Given the description of an element on the screen output the (x, y) to click on. 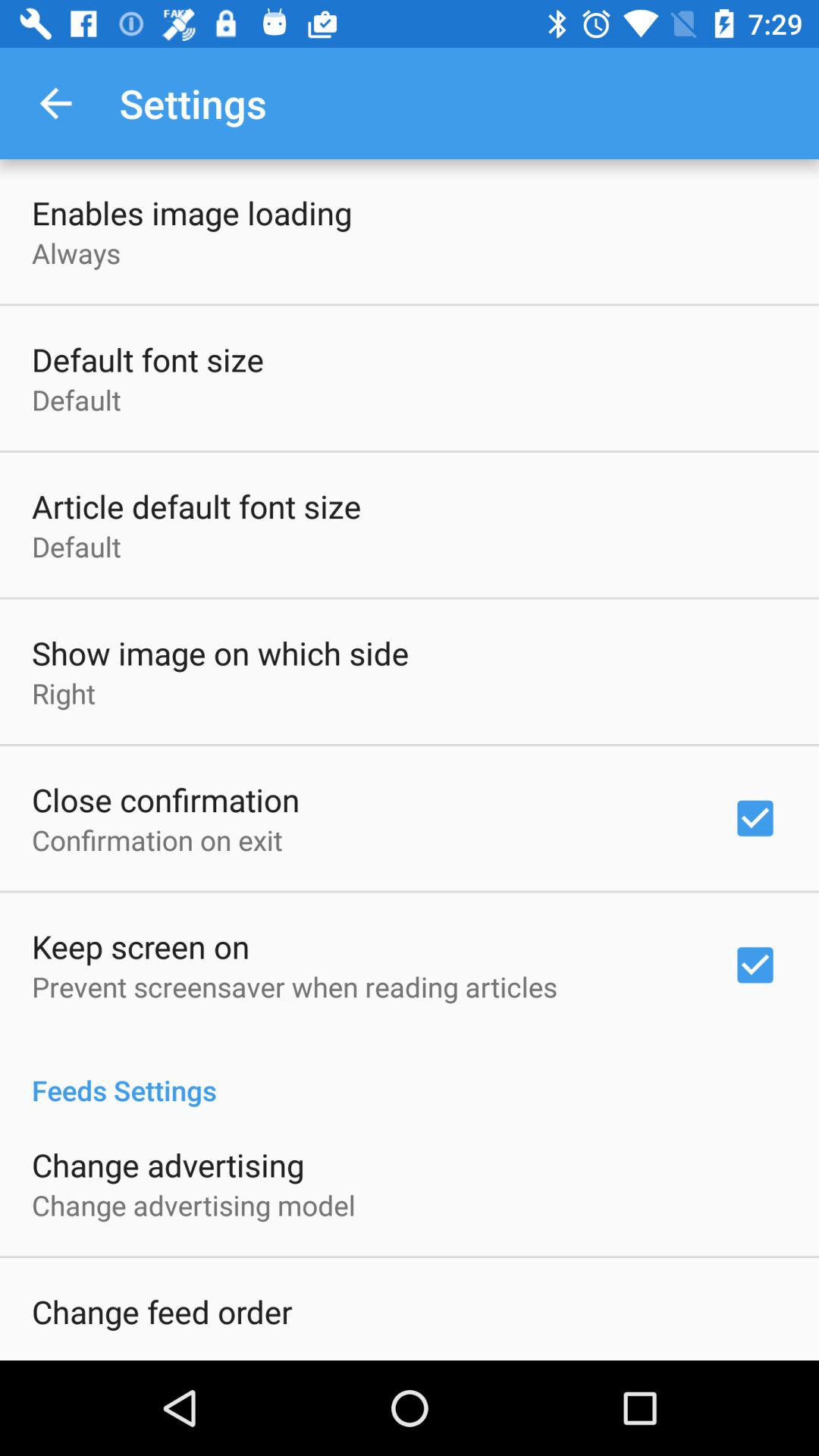
flip until change feed order icon (161, 1311)
